Given the description of an element on the screen output the (x, y) to click on. 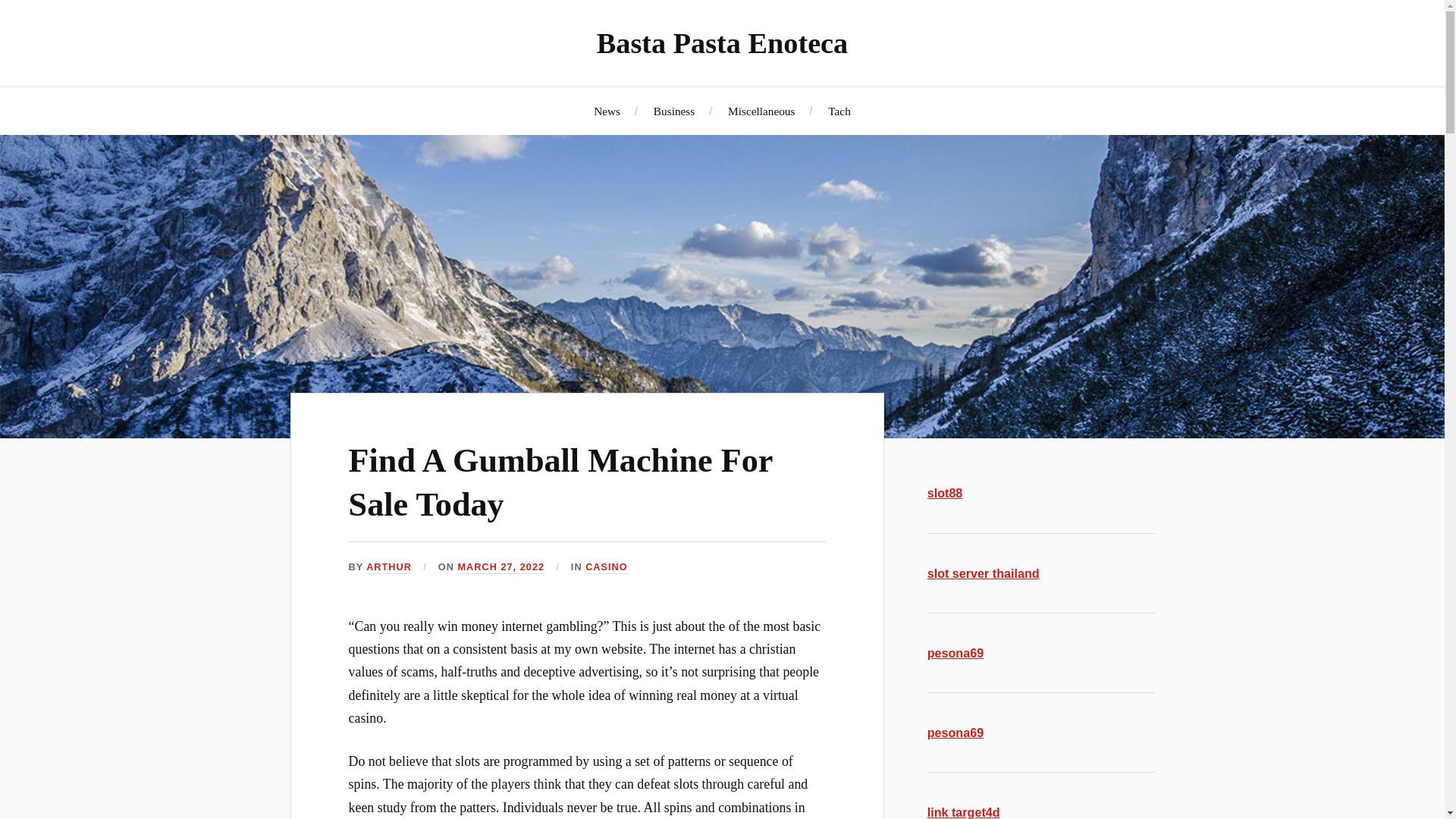
ARTHUR (389, 567)
Find A Gumball Machine For Sale Today (561, 482)
Miscellaneous (761, 110)
MARCH 27, 2022 (500, 567)
Basta Pasta Enoteca (721, 42)
Posts by Arthur (389, 567)
link target4d (963, 812)
slot server thailand (983, 572)
slot88 (944, 492)
pesona69 (955, 653)
pesona69 (955, 732)
CASINO (606, 567)
